Given the description of an element on the screen output the (x, y) to click on. 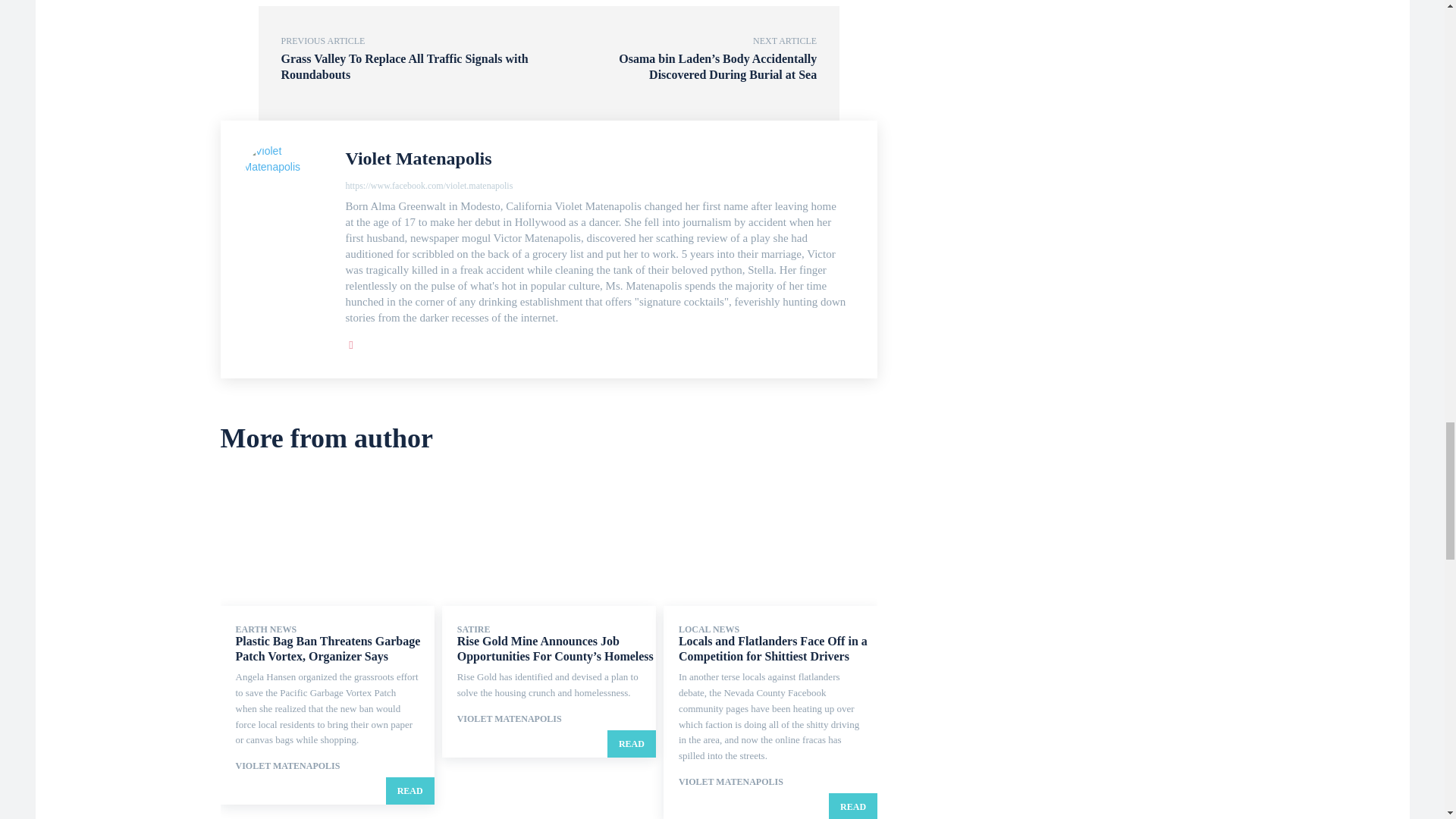
Facebook (351, 342)
